Given the description of an element on the screen output the (x, y) to click on. 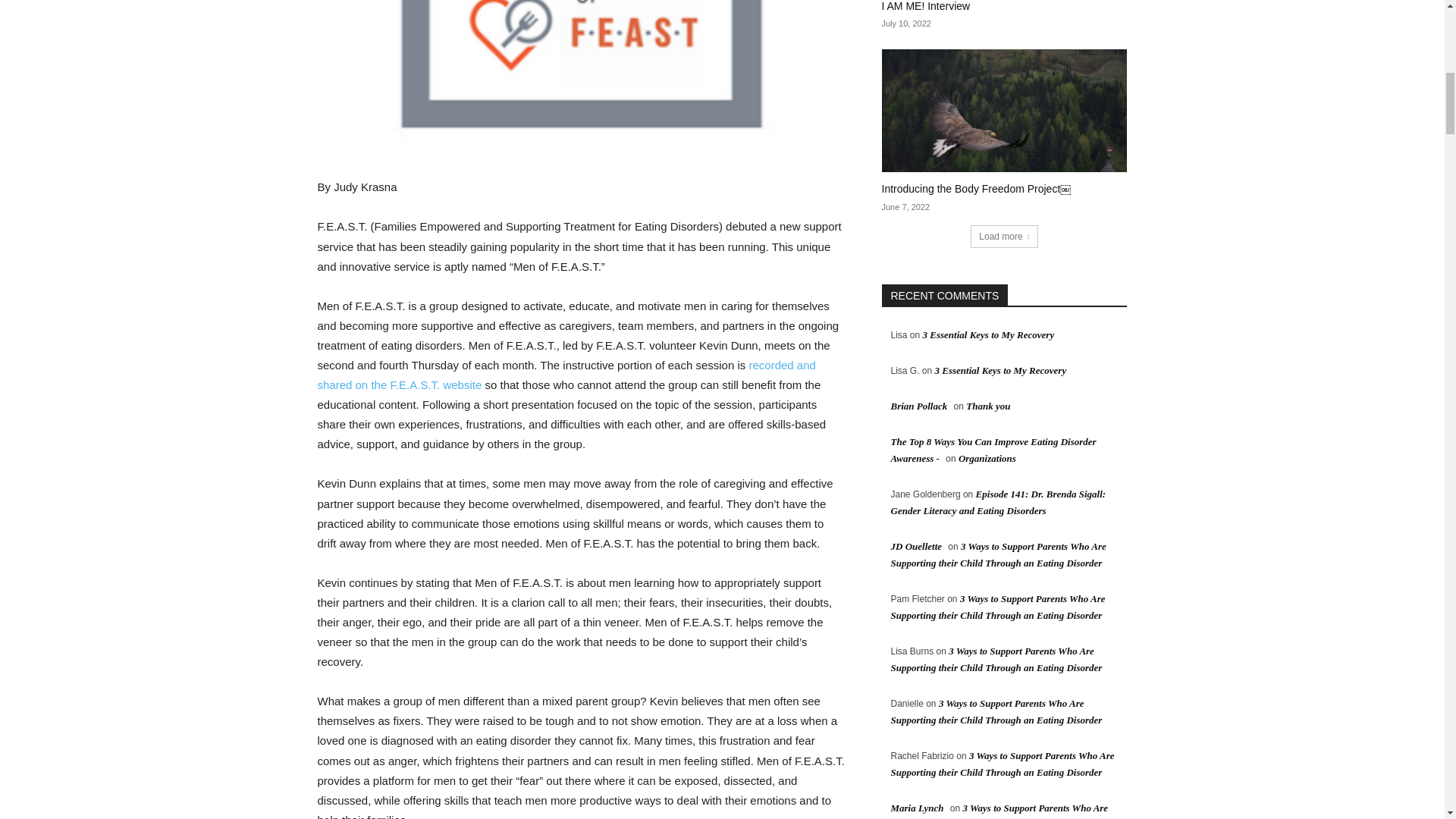
Menoffeastweb (580, 70)
